Given the description of an element on the screen output the (x, y) to click on. 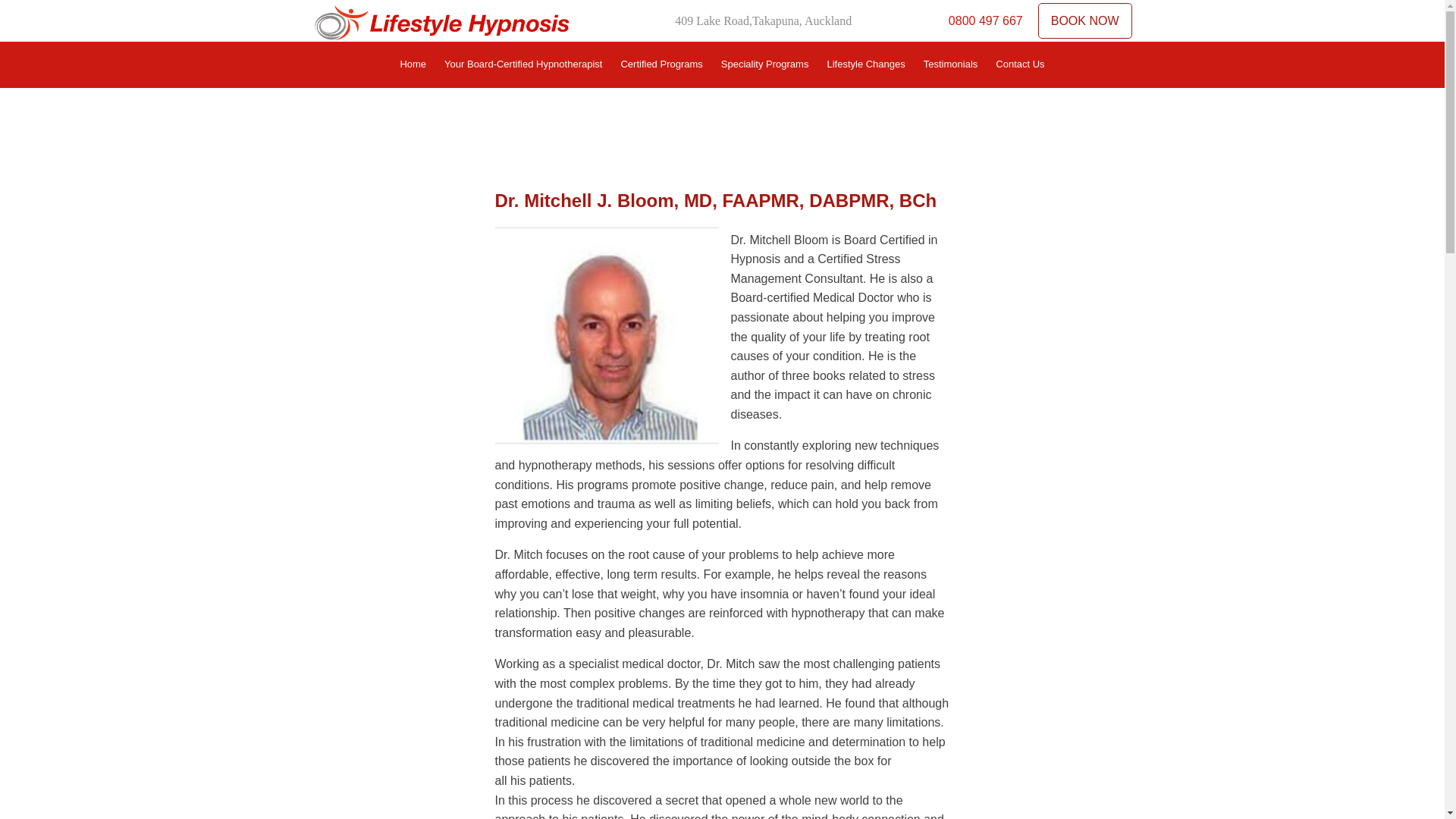
BOOK NOW (1085, 21)
Contact Us (1019, 64)
Your Board-Certified Hypnotherapist (523, 64)
Home (412, 64)
Lifestyle Changes (865, 64)
Speciality Programs (764, 64)
0800 497 667 (986, 20)
Certified Programs (661, 64)
Testimonials (950, 64)
